Given the description of an element on the screen output the (x, y) to click on. 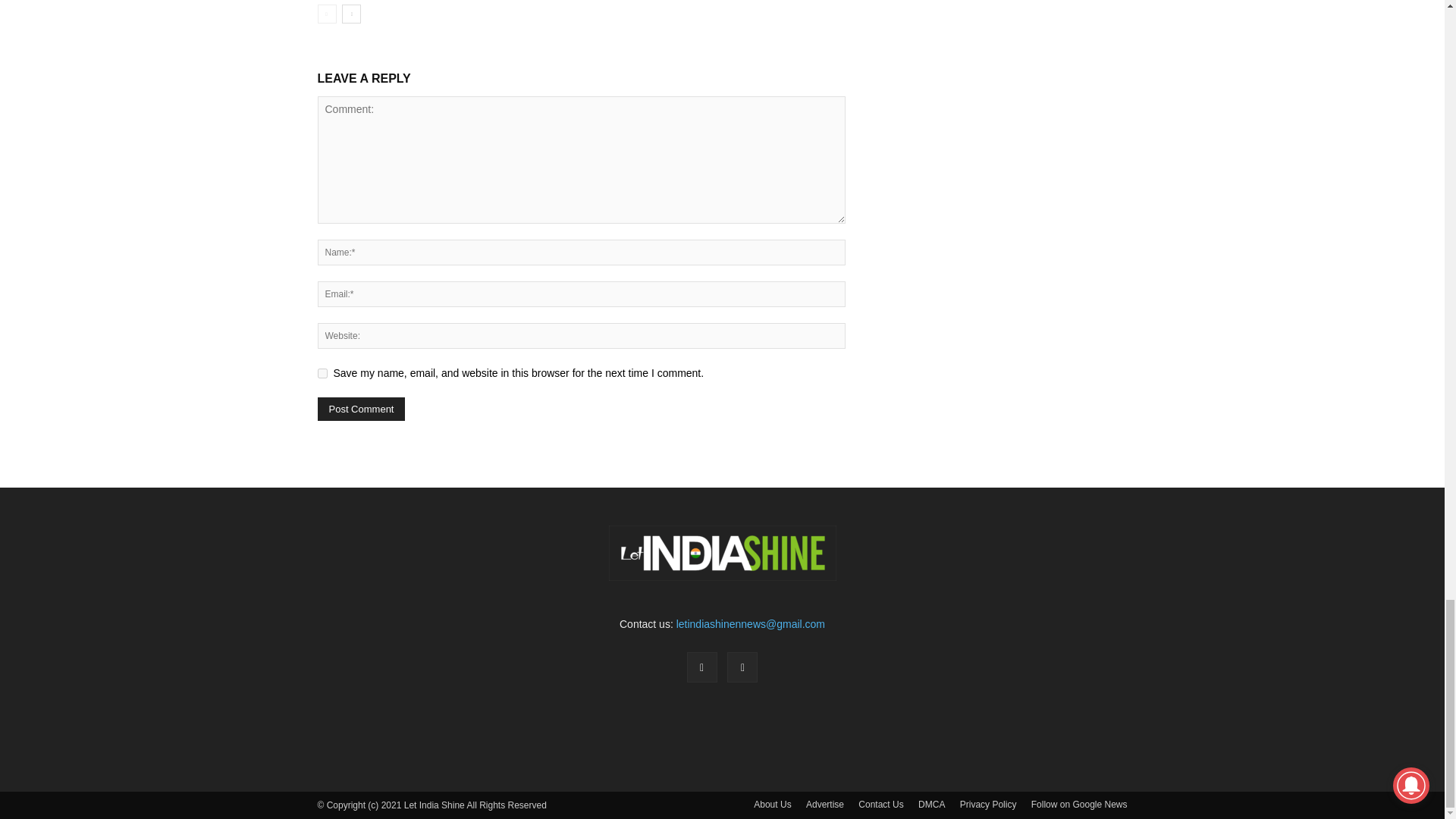
Post Comment (360, 408)
yes (321, 373)
